Given the description of an element on the screen output the (x, y) to click on. 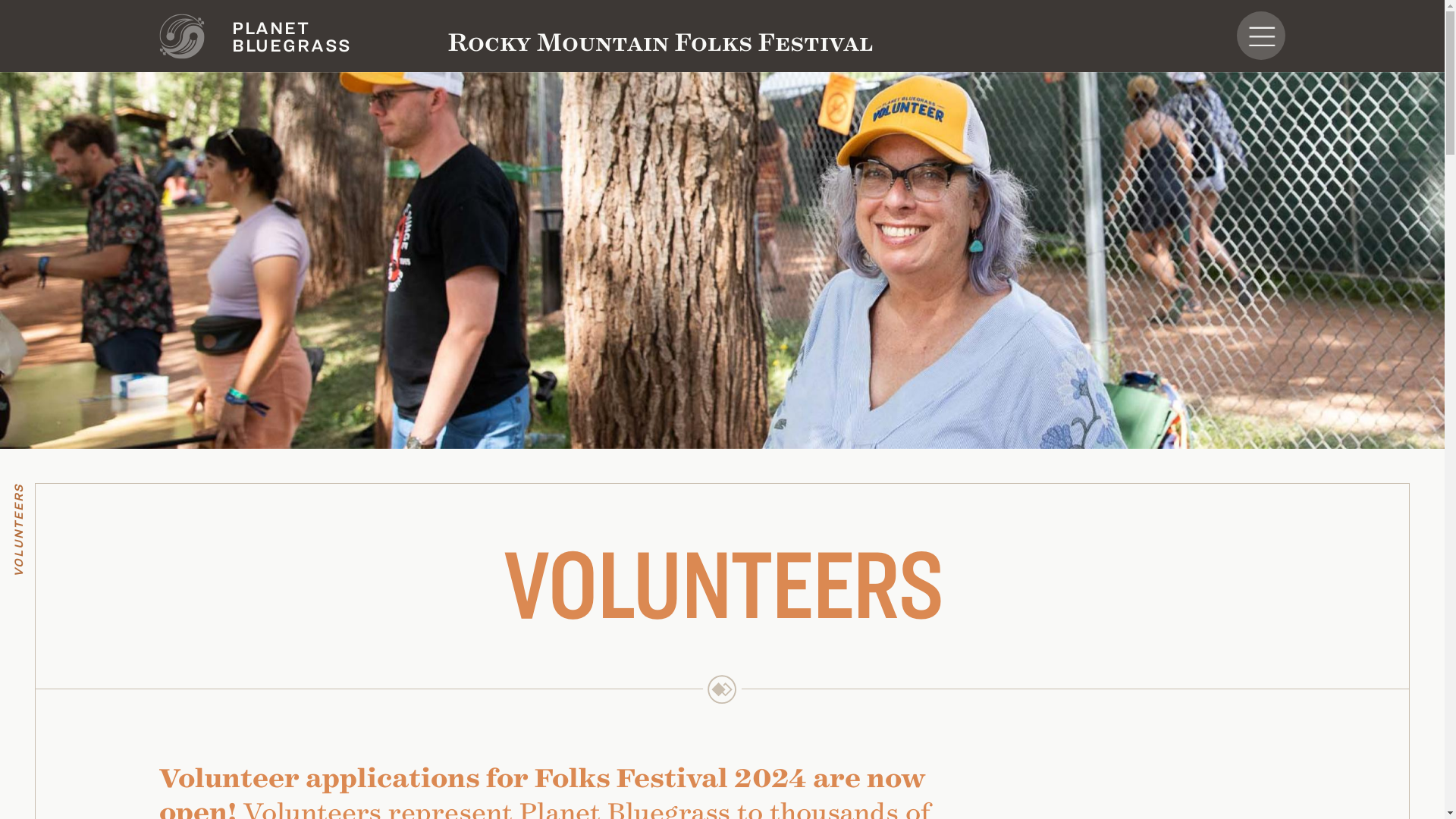
Yingo (181, 35)
Rocky Mountain Folks Festival (660, 40)
Community (722, 689)
